Given the description of an element on the screen output the (x, y) to click on. 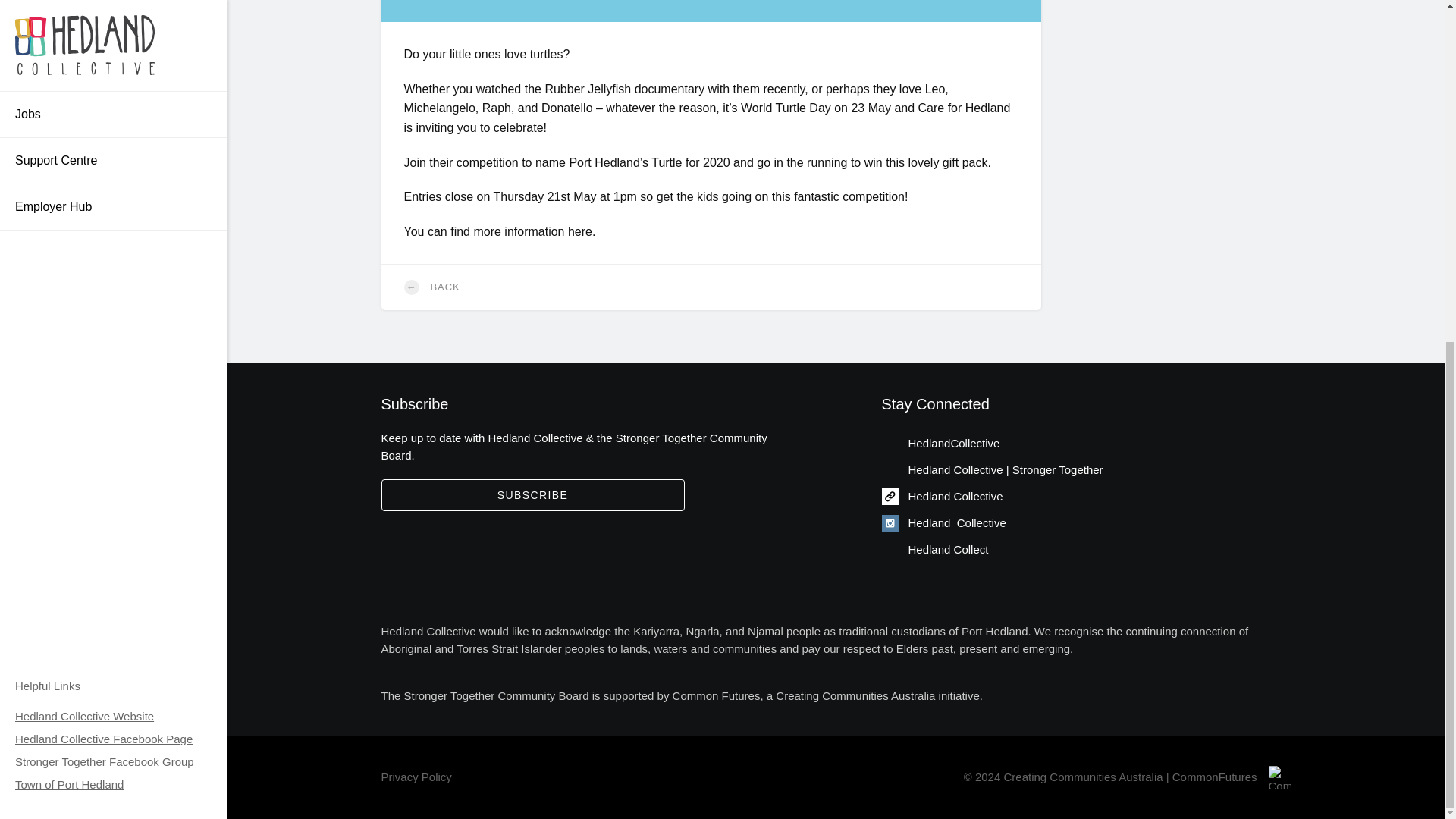
Subscribe (532, 495)
Stronger Together Facebook Group (103, 191)
Hedland Collective Facebook Page (103, 157)
Hedland Collective Hedland Collective (941, 496)
SUBSCRIBE (532, 495)
Hedland Collect Hedland Collective (934, 549)
Privacy Policy (415, 776)
Creating Communities Australia (855, 695)
Hedland Collect (934, 549)
Town of Port Hedland (68, 203)
HedlandCollective Hedland Collective (939, 442)
here (579, 231)
HedlandCollective (939, 442)
Hedland Collective (941, 496)
Hedland Collective Website (84, 134)
